Given the description of an element on the screen output the (x, y) to click on. 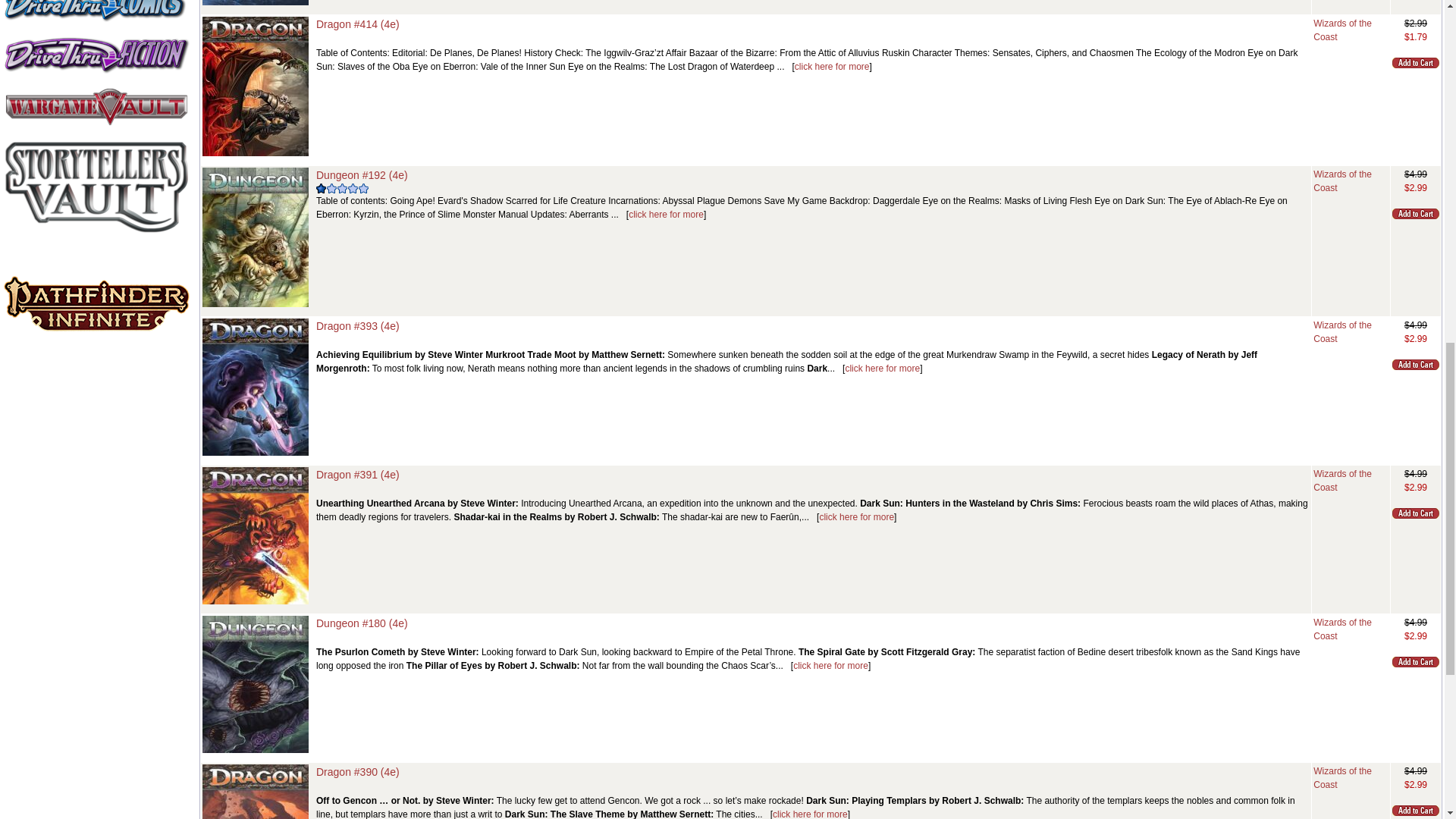
DriveThruComics (96, 11)
